Given the description of an element on the screen output the (x, y) to click on. 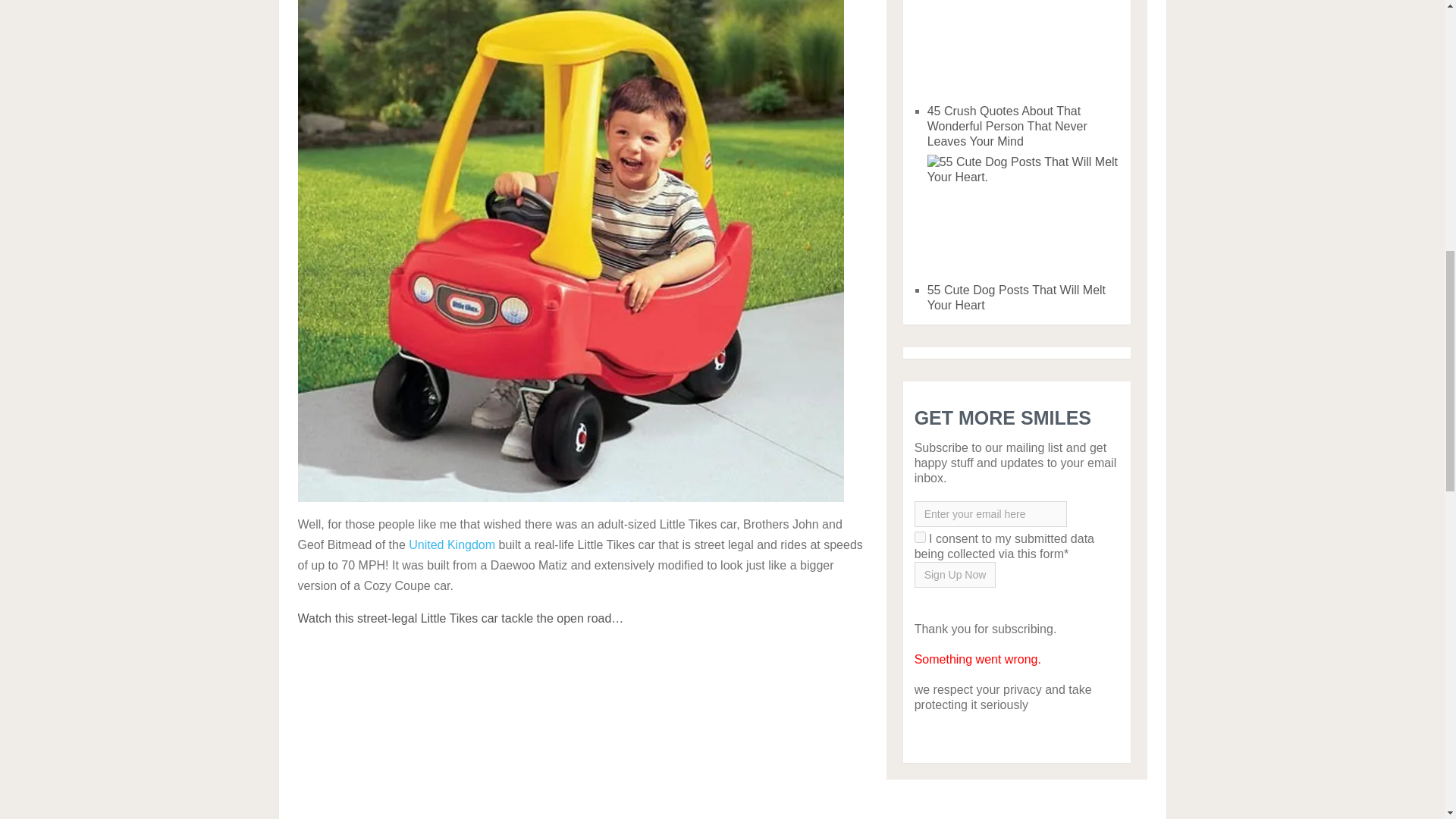
on (920, 536)
Sign Up Now (954, 574)
United Kingdom (452, 544)
